Given the description of an element on the screen output the (x, y) to click on. 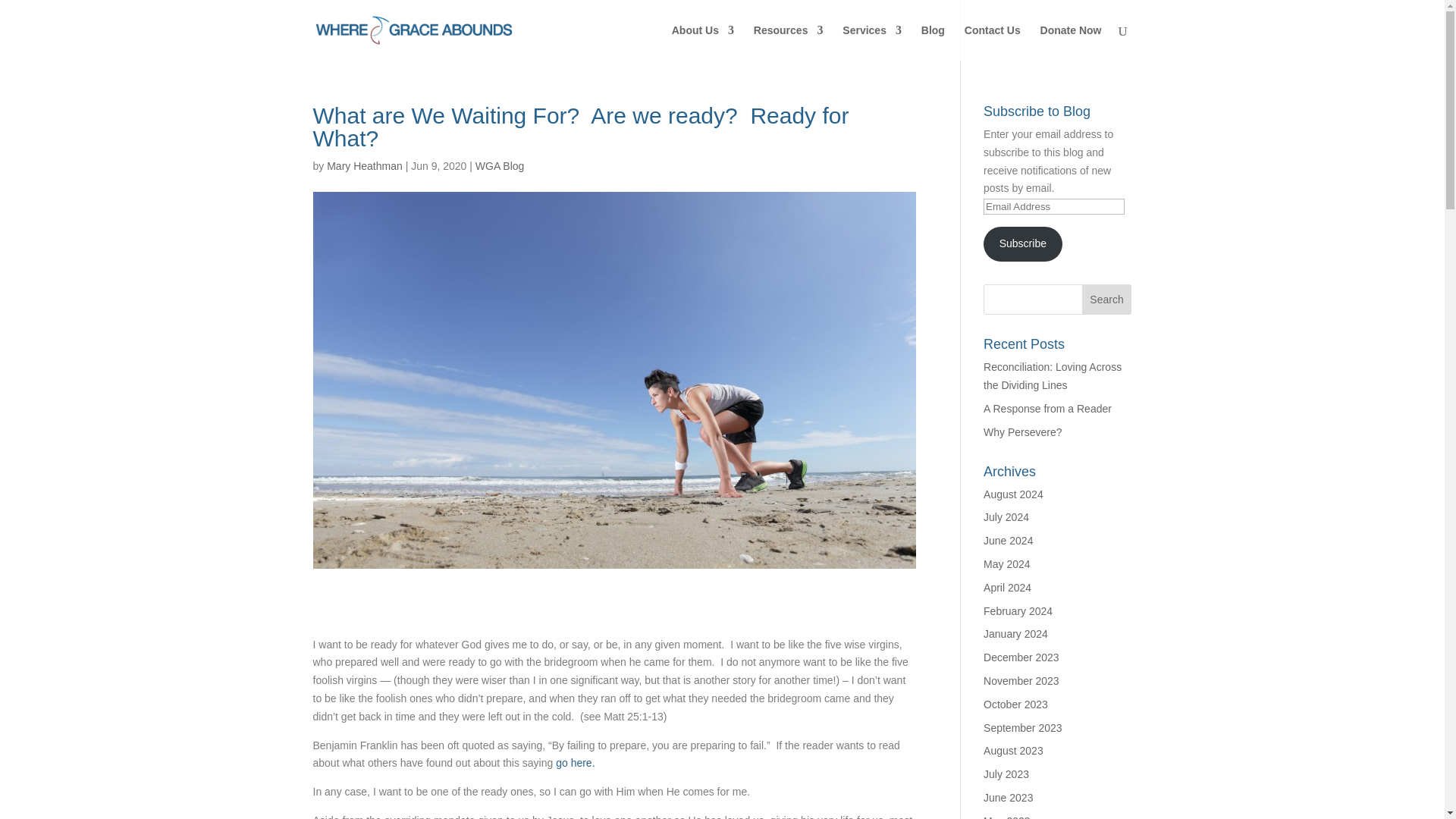
Donate Now (1071, 42)
About Us (702, 42)
Services (872, 42)
Posts by Mary Heathman (364, 165)
Resources (789, 42)
Search (1106, 299)
Contact Us (991, 42)
